Given the description of an element on the screen output the (x, y) to click on. 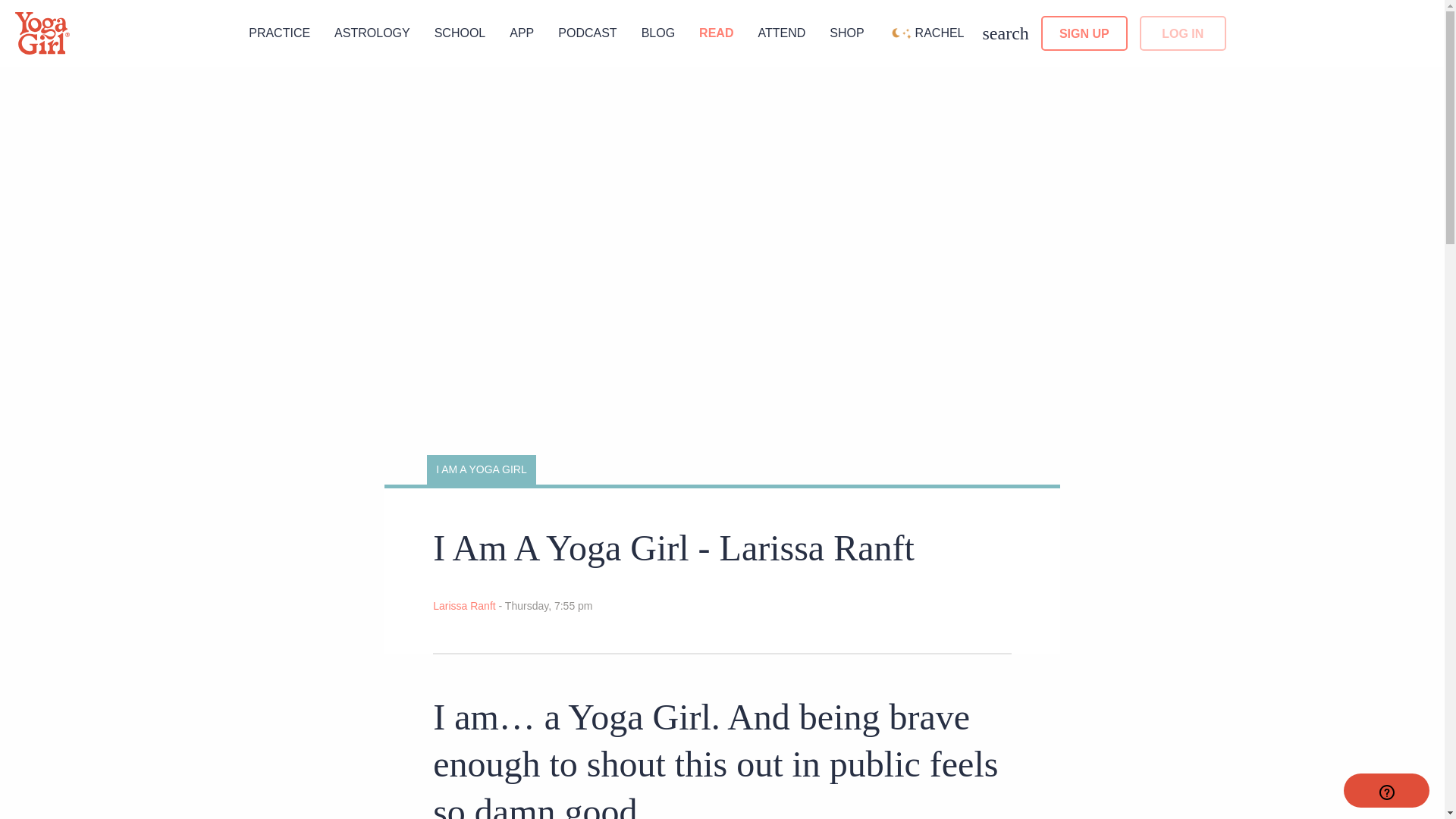
BLOG (658, 32)
Help (1386, 790)
READ (715, 32)
SHOP (846, 32)
Larissa Ranft (464, 605)
SCHOOL (459, 32)
LOG IN (1182, 32)
search (1005, 32)
SIGN UP (1083, 32)
ATTEND (781, 32)
